Given the description of an element on the screen output the (x, y) to click on. 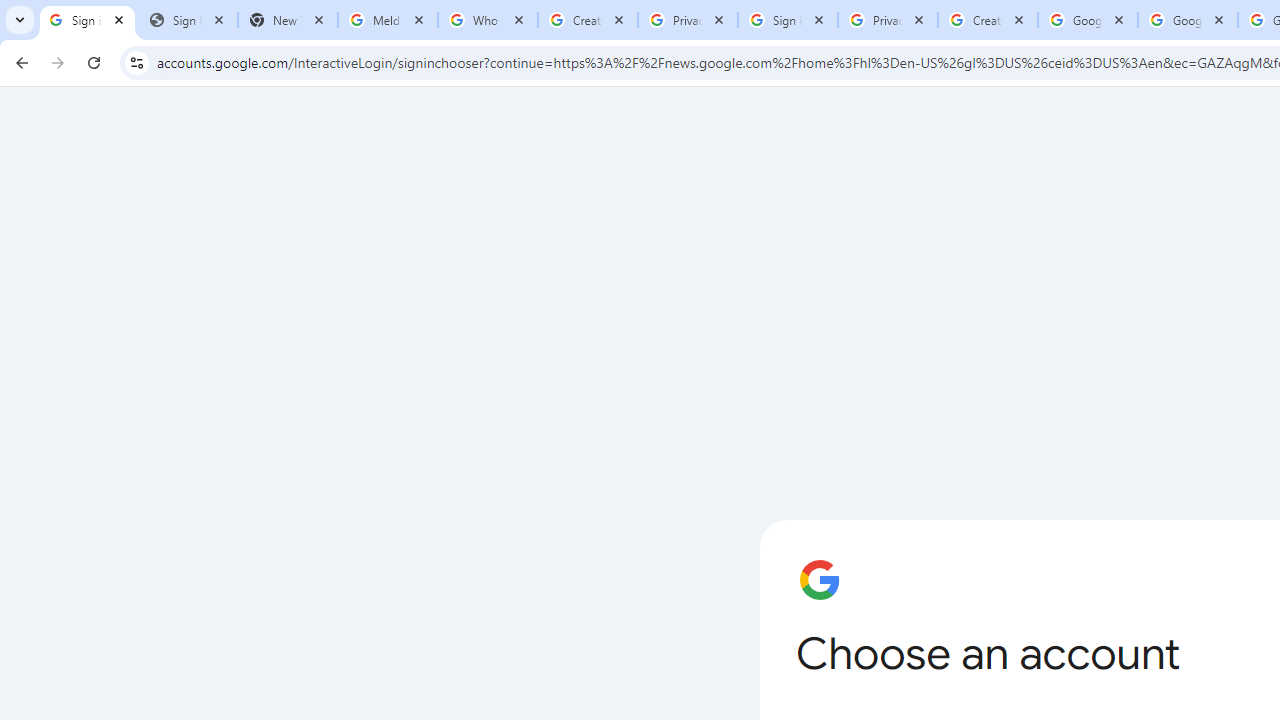
Sign in - Google Accounts (87, 20)
